Given the description of an element on the screen output the (x, y) to click on. 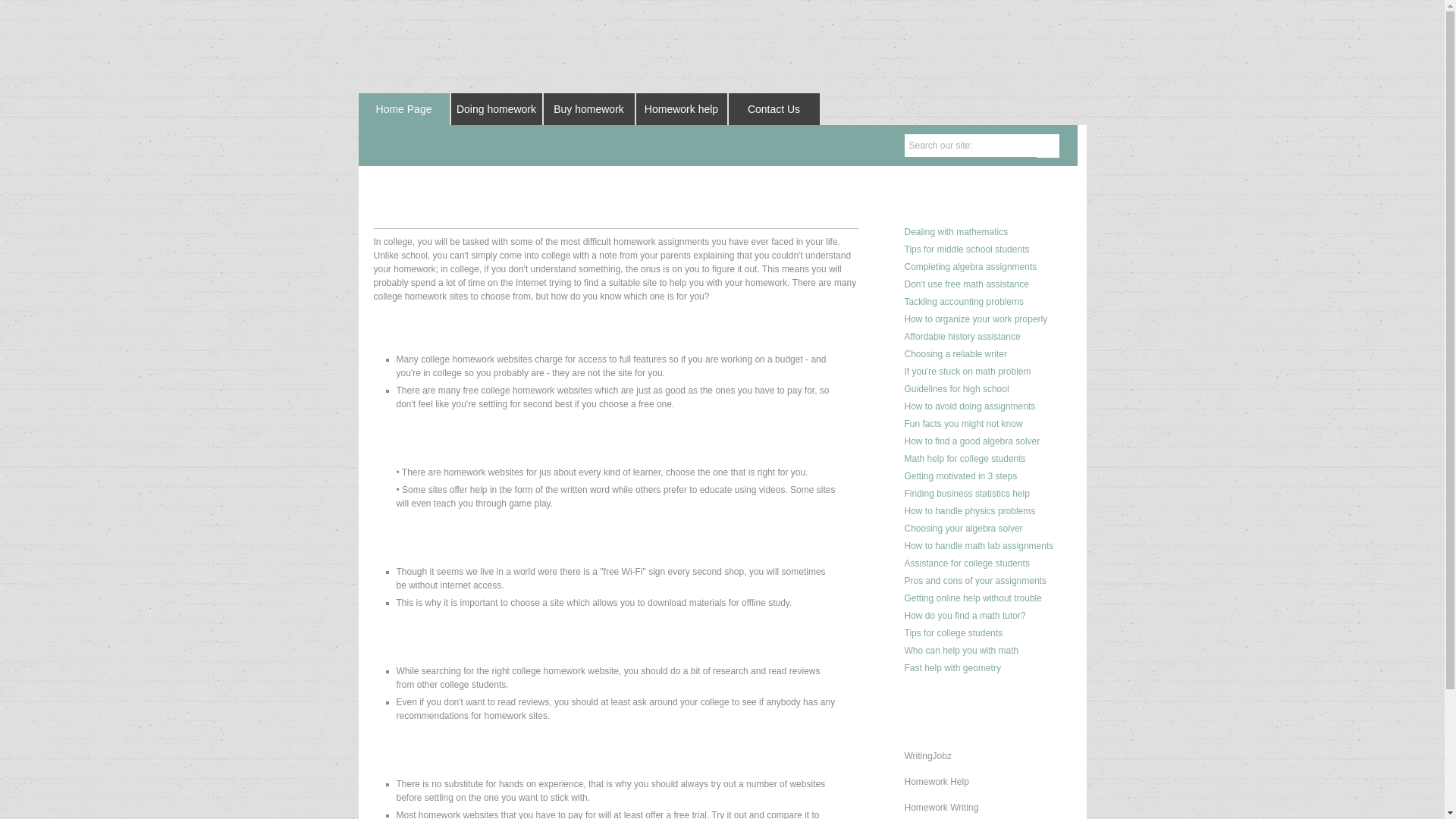
Organizing Your Homework Process: Some Useful Suggestions (975, 318)
Usful Advices That Can Help You Deal With Homework (966, 249)
How To Find Good Math Homework Help For College Students (964, 458)
Doing homework (495, 109)
High School Homework: What Is An Average Amount Of It (963, 423)
Looking For A Good Assignment Writer: Some Useful Hints (955, 353)
Search our site: (969, 145)
How To Succeed With Matrh Homework: List Of Prompts (955, 231)
College Homework Help Online: Where To Search For It (966, 562)
Good History Homework Help: How To Find It For Free (962, 336)
Helpful Tips: How To Do Your Accounting Homework Properly (963, 301)
Free Math Homework Assistance: Beware Of Using It (965, 284)
Algebra Homework Solver: How To Find A Reliable One (963, 528)
Dealing With Business Statistics Homework: Great Hints (966, 493)
Homework help (680, 109)
